Given the description of an element on the screen output the (x, y) to click on. 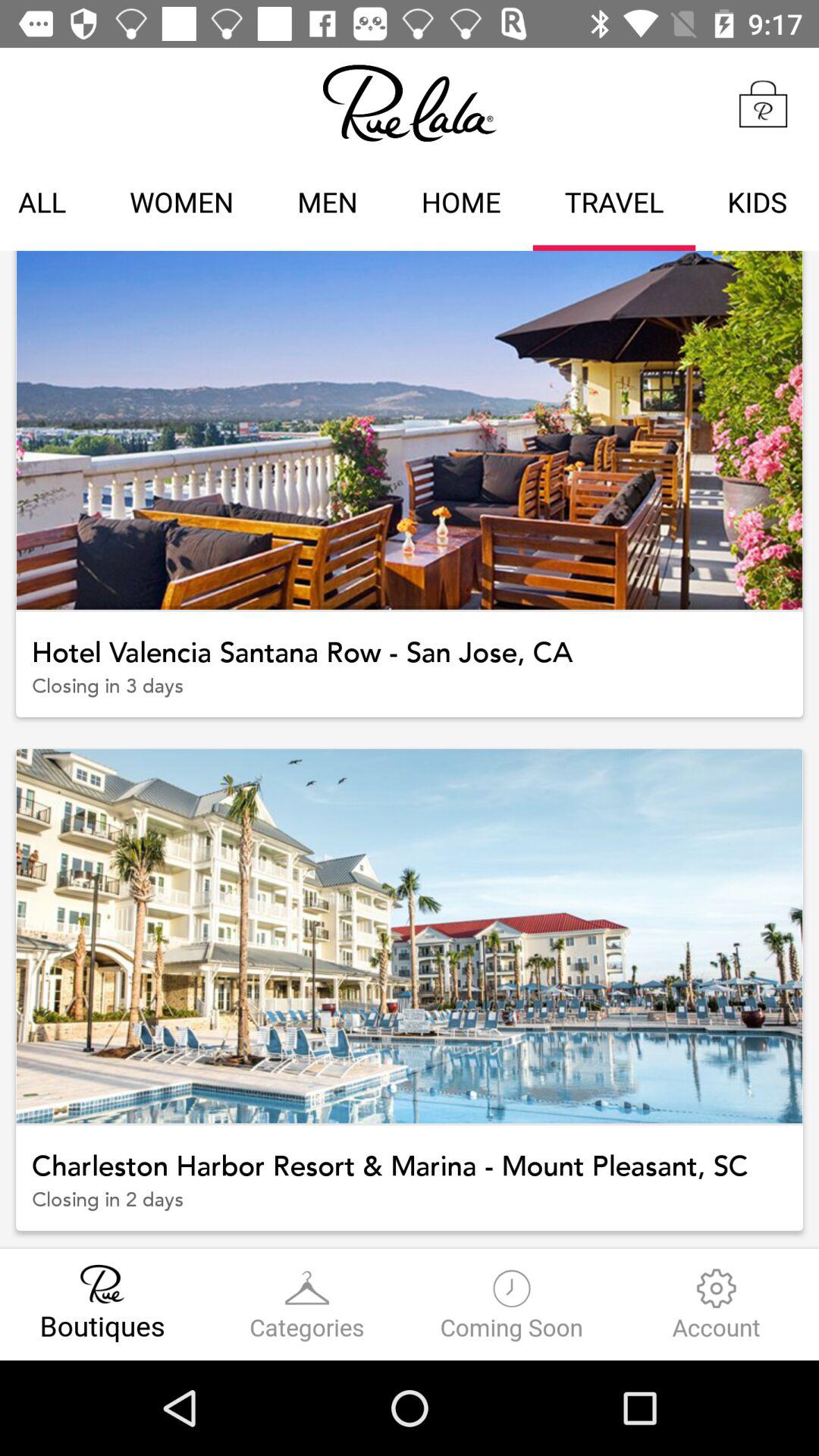
tap the icon next to the travel icon (460, 204)
